Given the description of an element on the screen output the (x, y) to click on. 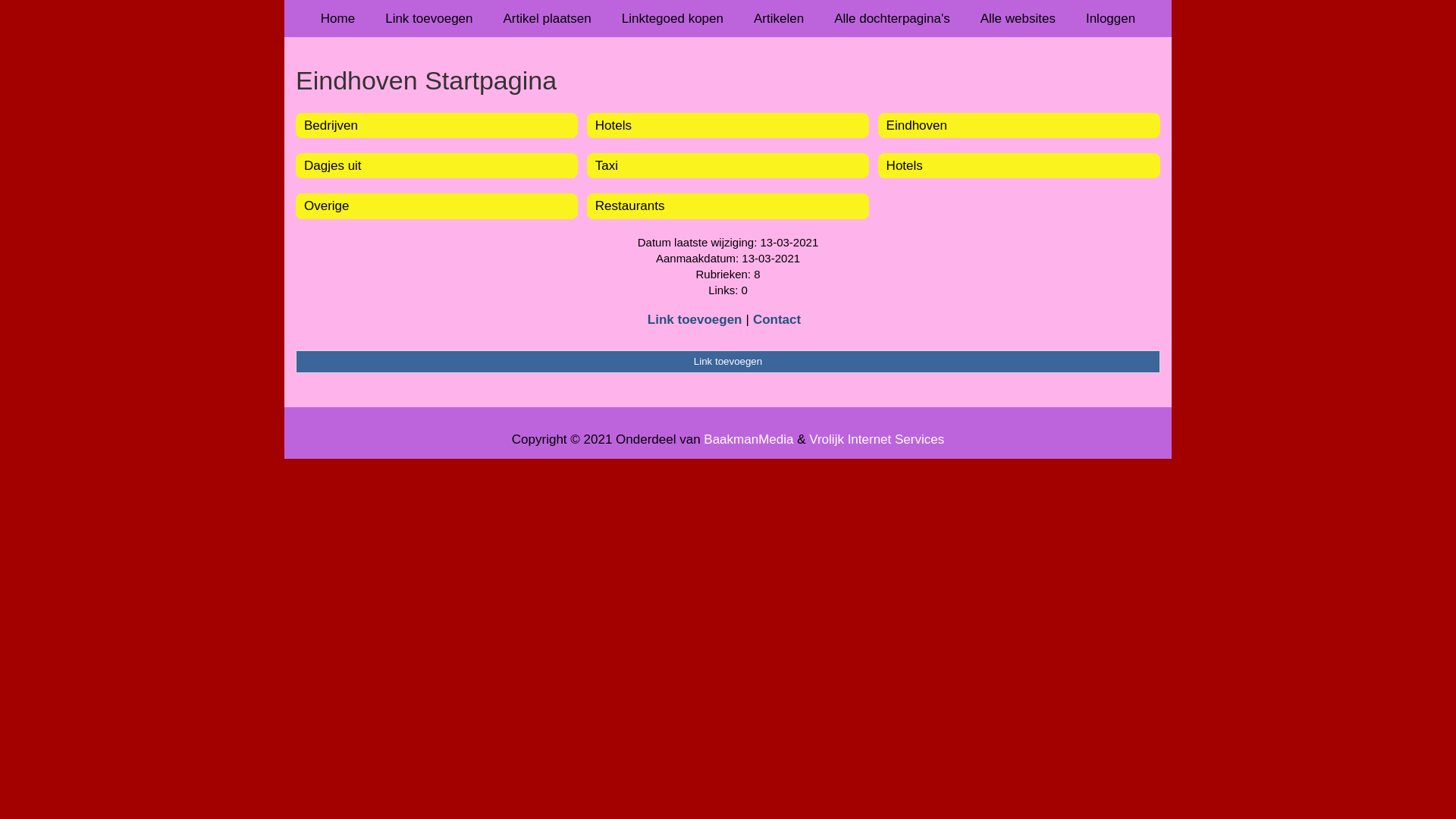
Link toevoegen Element type: text (694, 319)
Artikelen Element type: text (778, 18)
Home Element type: text (337, 18)
Vrolijk Internet Services Element type: text (876, 439)
Eindhoven Startpagina Element type: text (727, 80)
Dagjes uit Element type: text (332, 165)
Hotels Element type: text (904, 165)
Overige Element type: text (326, 205)
Taxi Element type: text (606, 165)
Restaurants Element type: text (630, 205)
Bedrijven Element type: text (330, 125)
Hotels Element type: text (613, 125)
Linktegoed kopen Element type: text (672, 18)
Alle dochterpagina's Element type: text (892, 18)
Contact Element type: text (776, 319)
Alle websites Element type: text (1017, 18)
BaakmanMedia Element type: text (748, 439)
Artikel plaatsen Element type: text (547, 18)
Inloggen Element type: text (1110, 18)
Link toevoegen Element type: text (428, 18)
Eindhoven Element type: text (916, 125)
Link toevoegen Element type: text (727, 361)
